Given the description of an element on the screen output the (x, y) to click on. 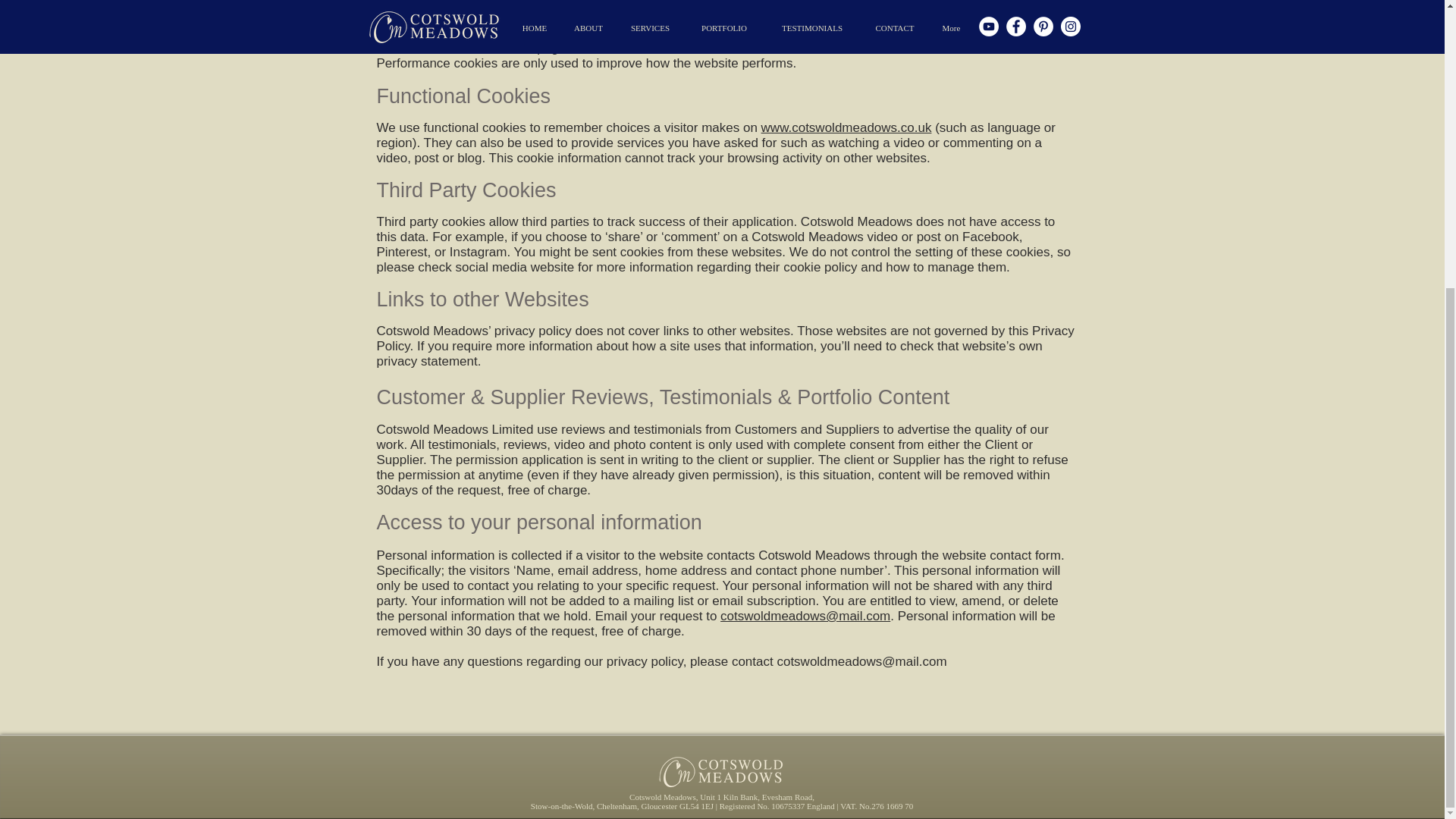
www.cotswoldmeadows.co.uk (960, 32)
Cookie Alert (518, 771)
www.cotswoldmeadows.co.uk (846, 127)
